Given the description of an element on the screen output the (x, y) to click on. 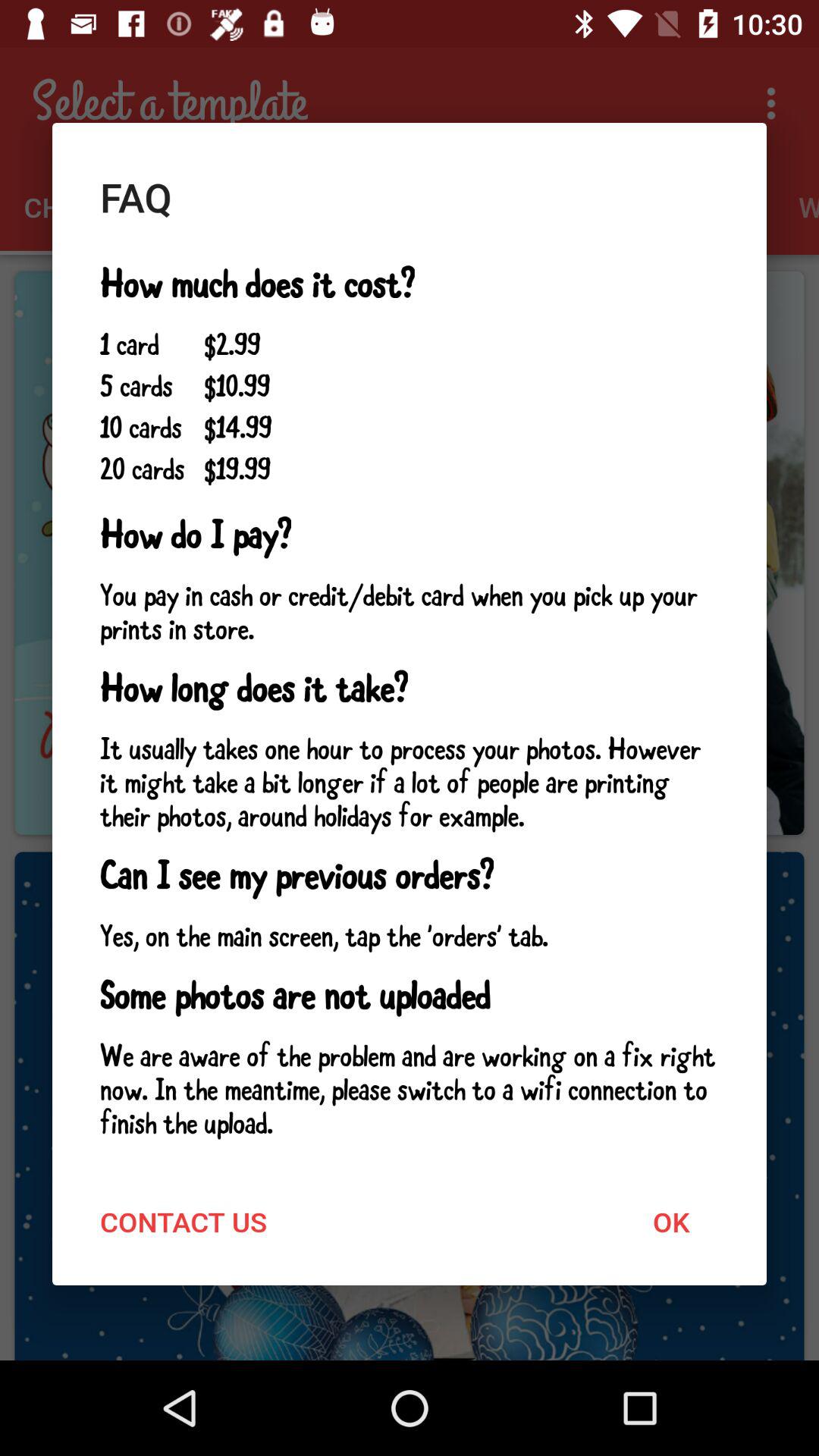
swipe to contact us (183, 1221)
